Given the description of an element on the screen output the (x, y) to click on. 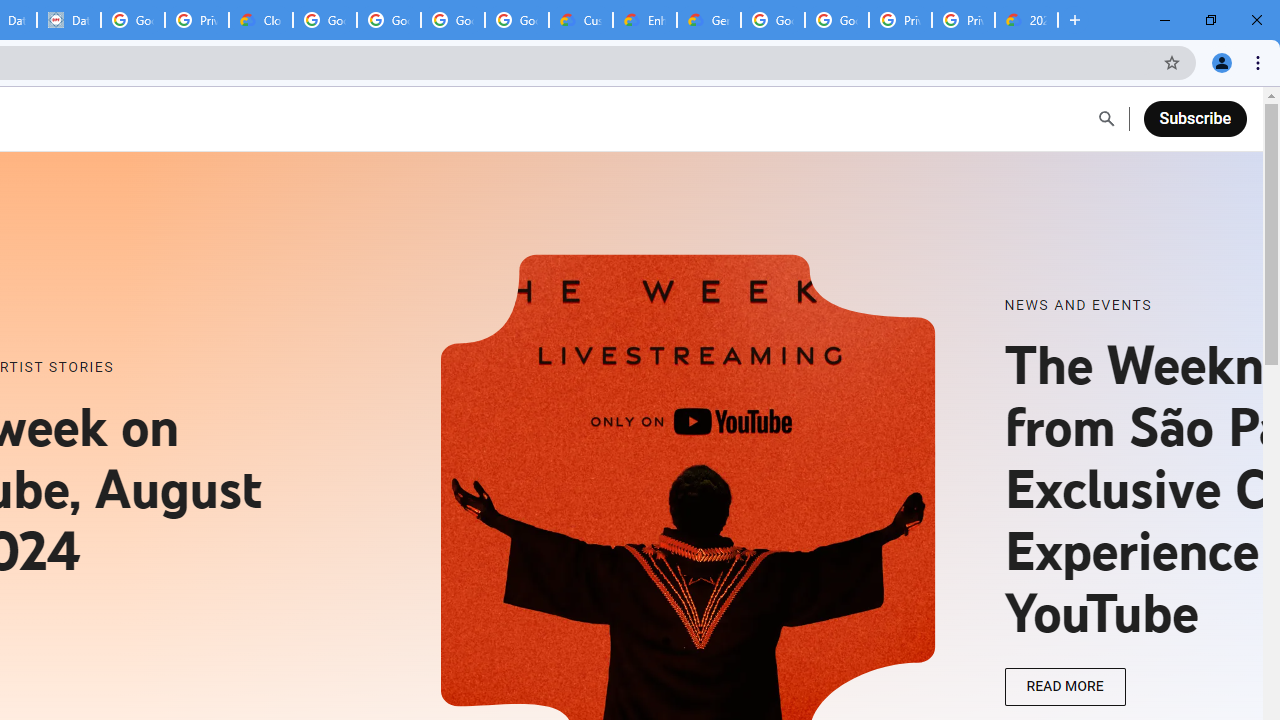
Google Workspace - Specific Terms (517, 20)
Enhanced Support | Google Cloud (645, 20)
Open Search (1106, 119)
Google Workspace - Specific Terms (453, 20)
Data Privacy Framework (69, 20)
